Given the description of an element on the screen output the (x, y) to click on. 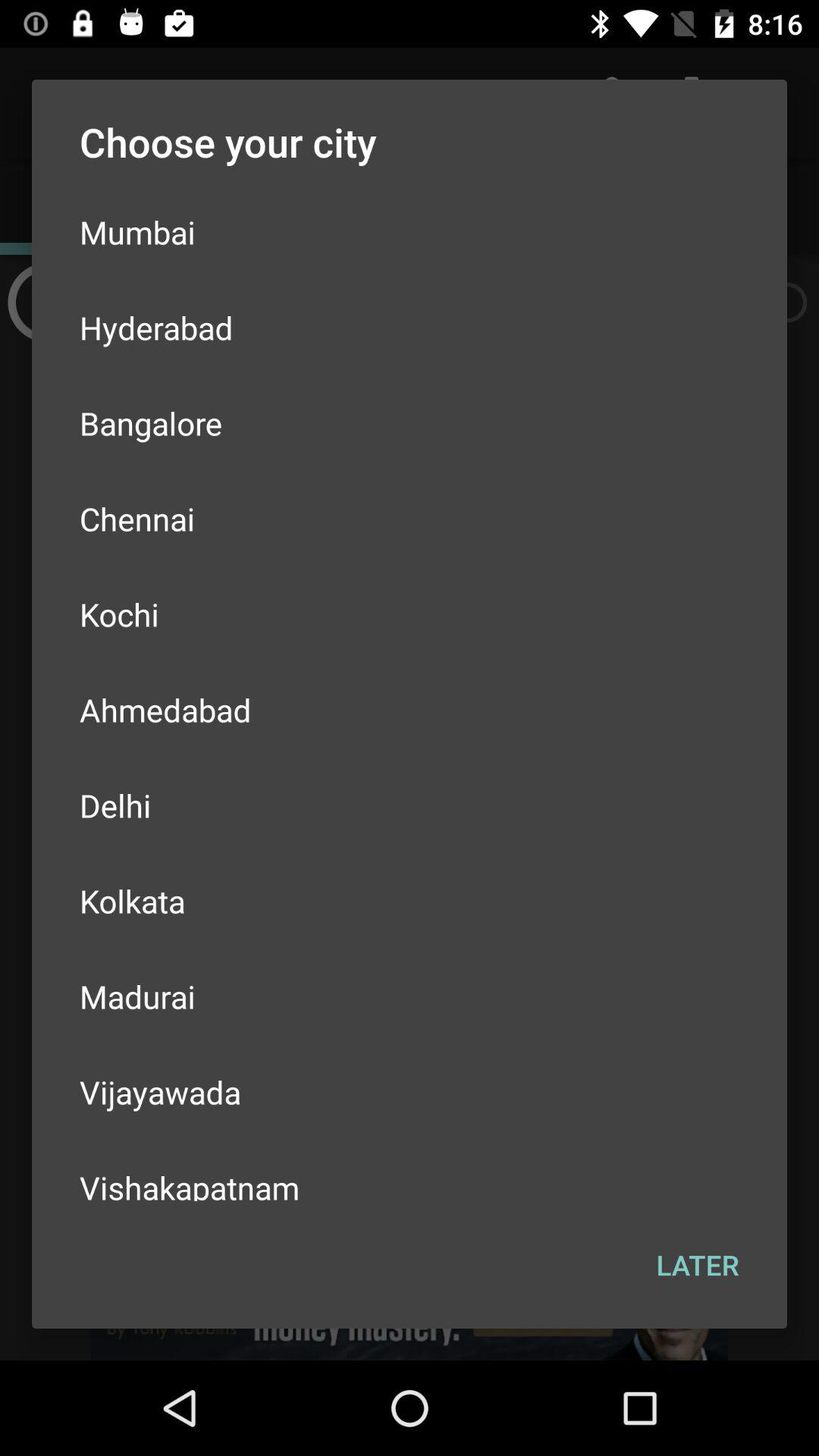
turn on the delhi icon (409, 805)
